Given the description of an element on the screen output the (x, y) to click on. 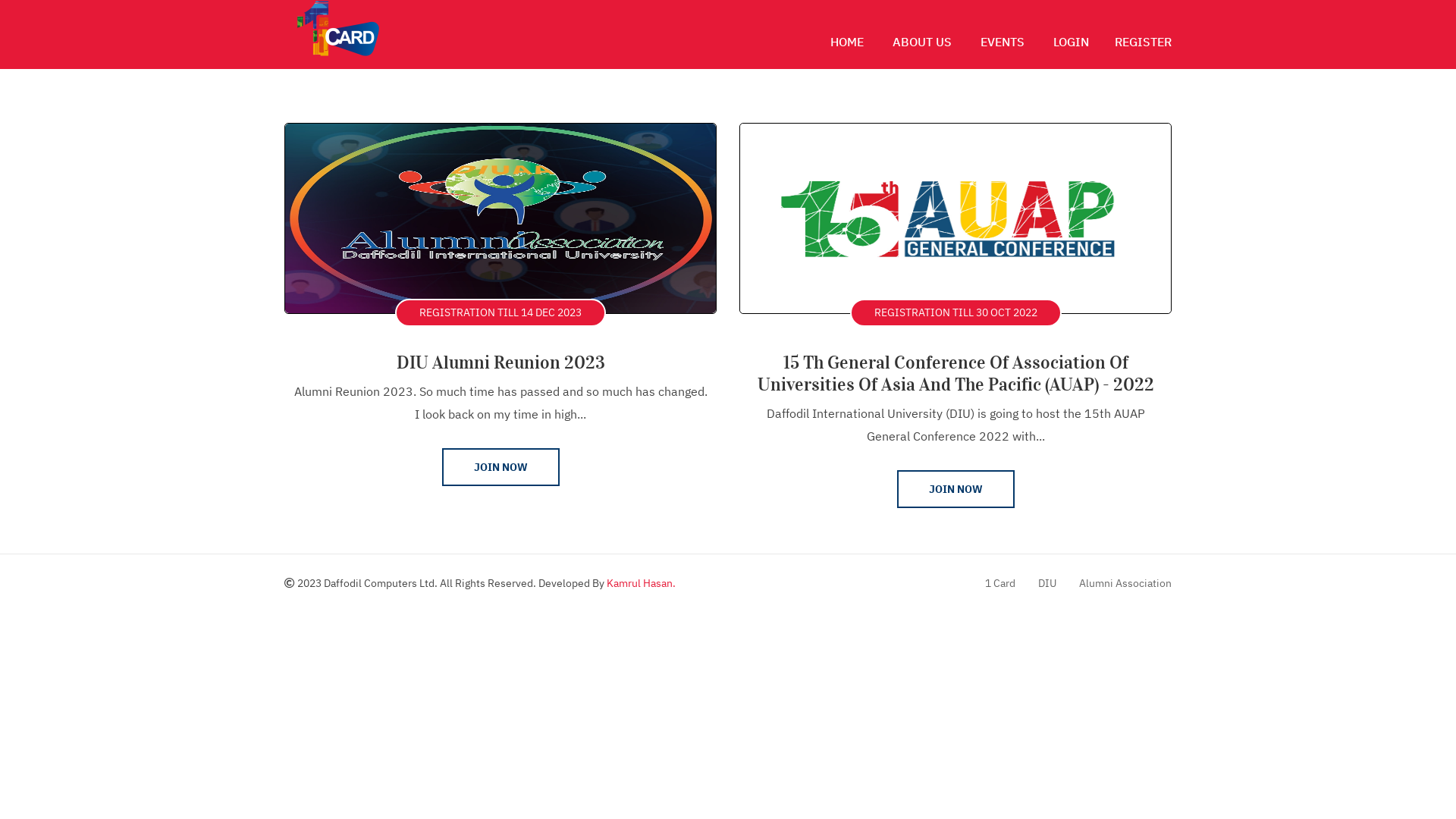
DIU Alumni Reunion 2023 Element type: text (499, 362)
1 Card Element type: text (1000, 582)
Kamrul Hasan. Element type: text (640, 582)
REGISTER Element type: text (1142, 41)
DIU Element type: text (1047, 582)
JOIN NOW Element type: text (499, 467)
EVENTS Element type: text (1002, 41)
Alumni Association Element type: text (1125, 582)
HOME Element type: text (846, 41)
LOGIN Element type: text (1070, 41)
JOIN NOW Element type: text (954, 489)
ABOUT US Element type: text (921, 41)
